Given the description of an element on the screen output the (x, y) to click on. 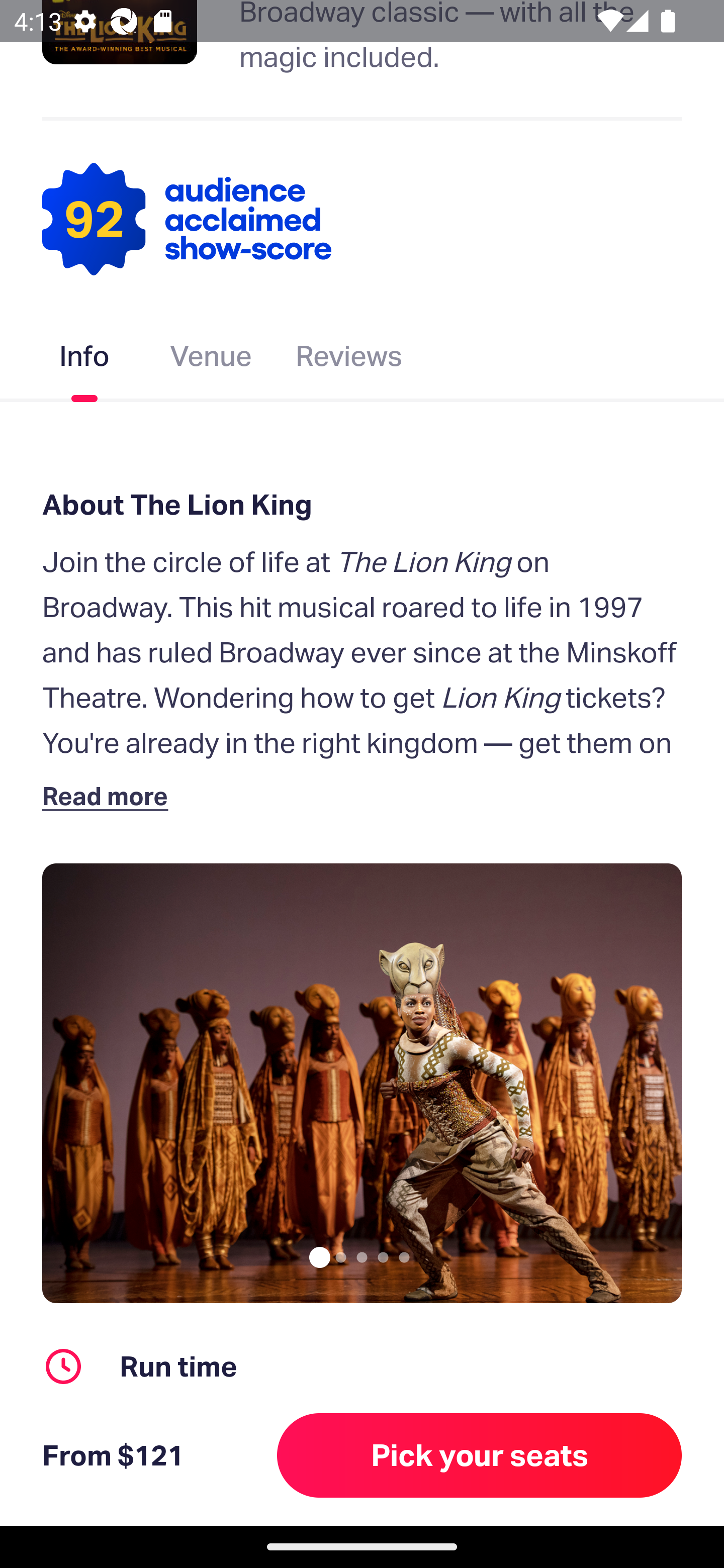
Venue (210, 359)
Reviews (348, 359)
About The Lion King (361, 504)
Read more (109, 795)
Pick your seats (479, 1454)
